Given the description of an element on the screen output the (x, y) to click on. 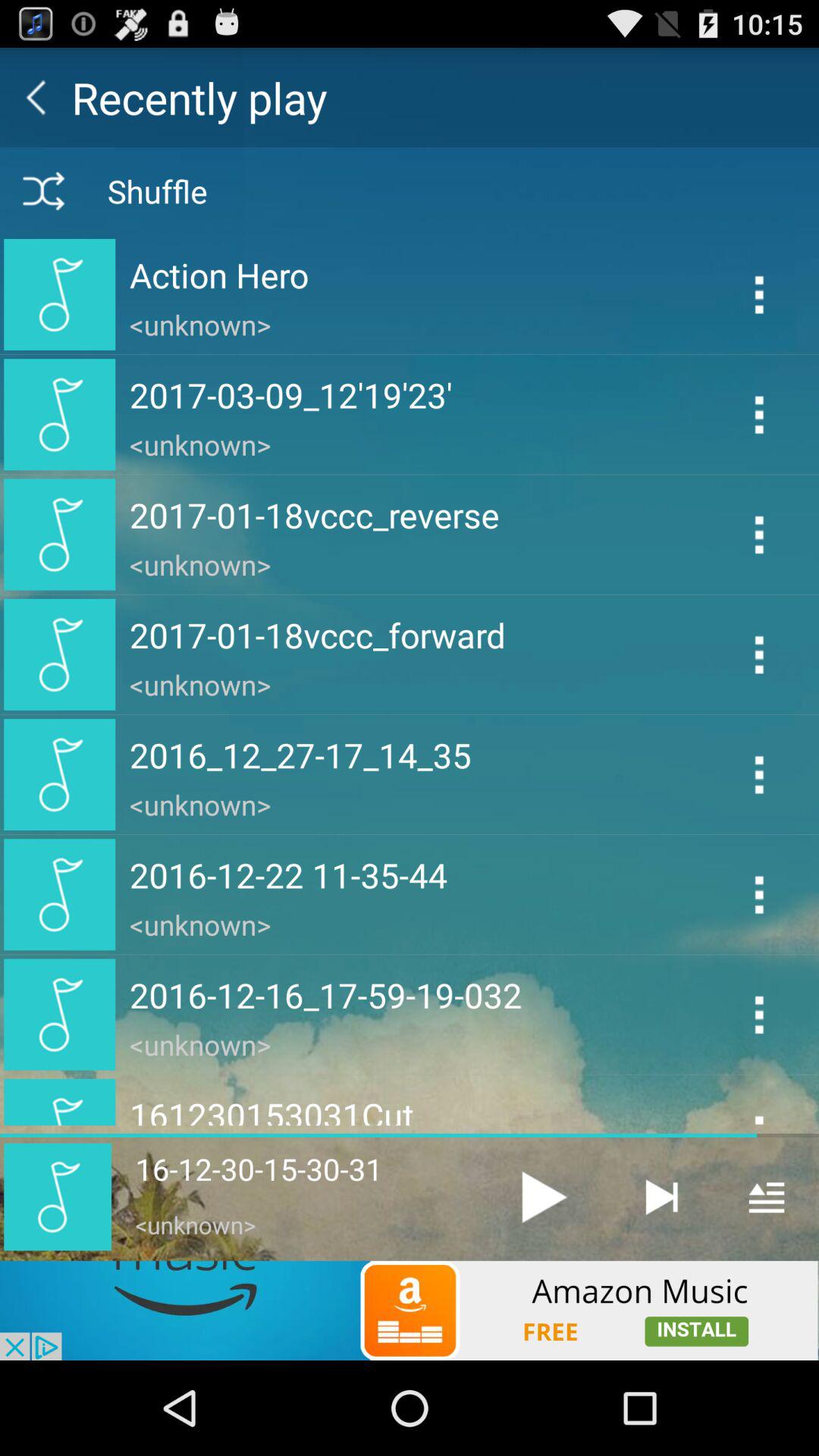
open the menu of the playlist (766, 1197)
